Given the description of an element on the screen output the (x, y) to click on. 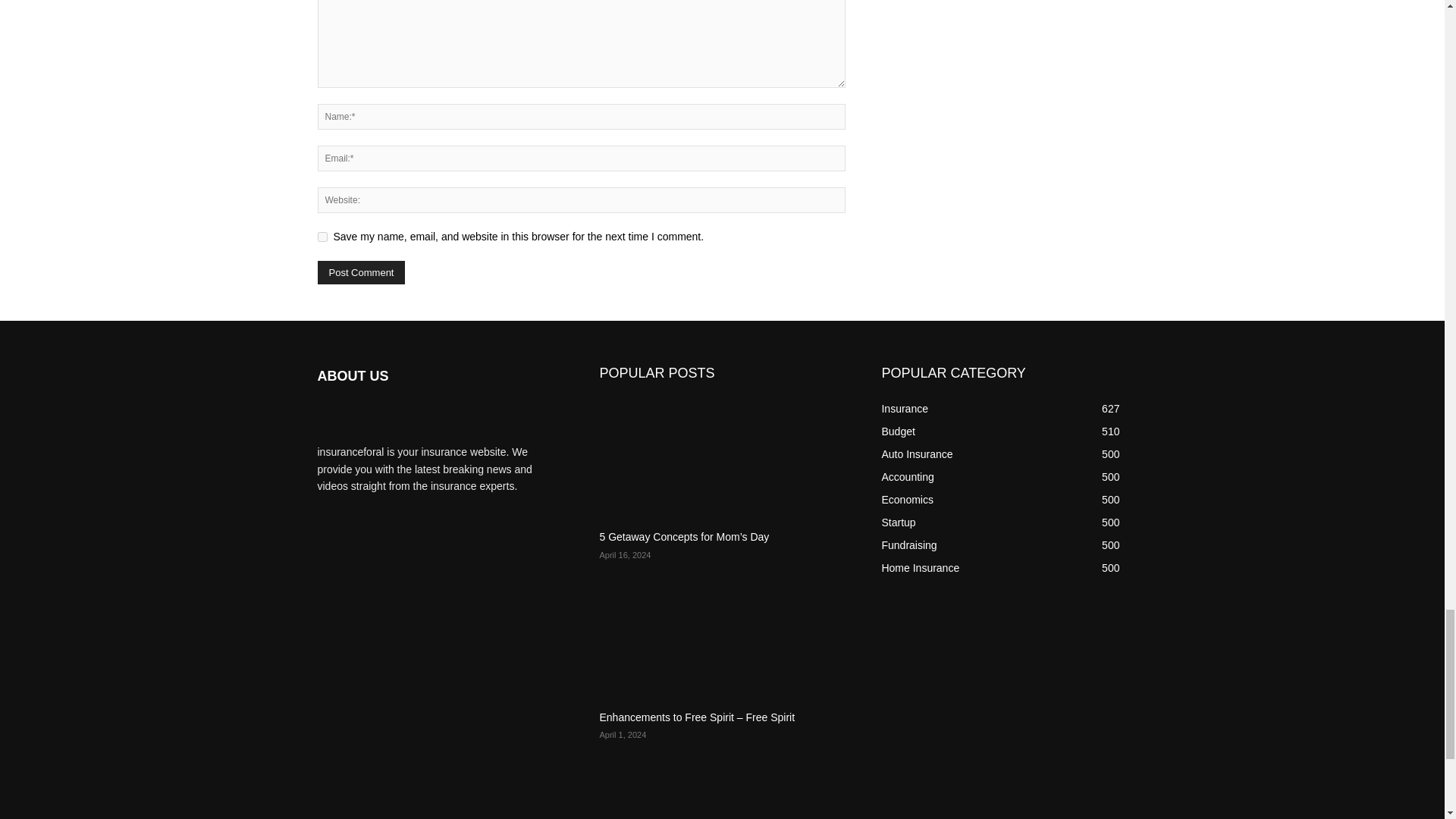
yes (321, 236)
Post Comment (360, 272)
